Given the description of an element on the screen output the (x, y) to click on. 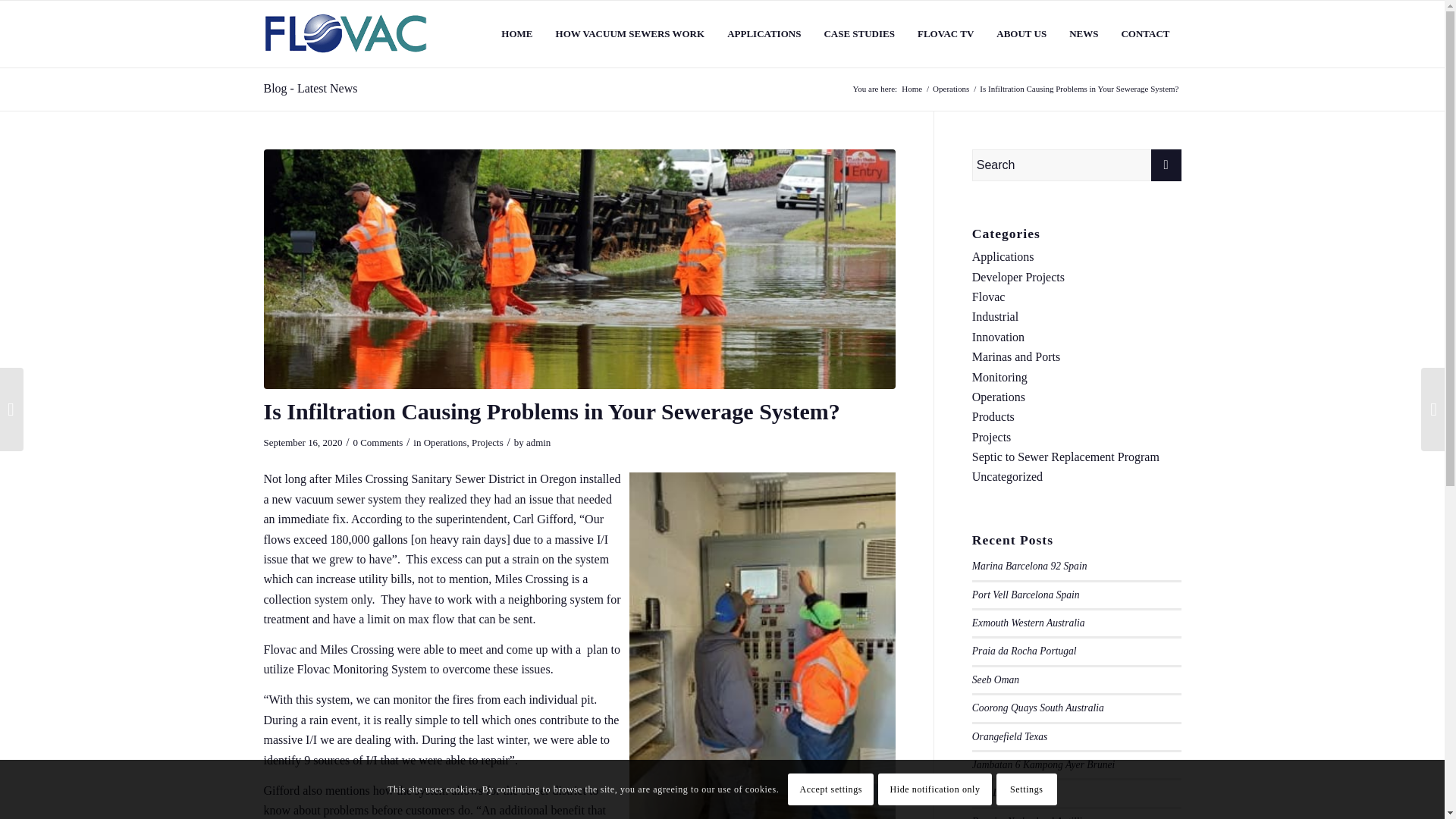
CASE STUDIES (858, 33)
Industrial (994, 316)
Innovation (998, 336)
0 Comments (377, 441)
ABOUT US (1021, 33)
Operations (950, 89)
logo (345, 33)
Developer Projects (1018, 277)
Flovac (989, 296)
Permanent Link: Blog - Latest News (310, 88)
Posts by admin (537, 441)
Blog - Latest News (310, 88)
Operations (445, 441)
FLOVAC TV (945, 33)
APPLICATIONS (764, 33)
